Given the description of an element on the screen output the (x, y) to click on. 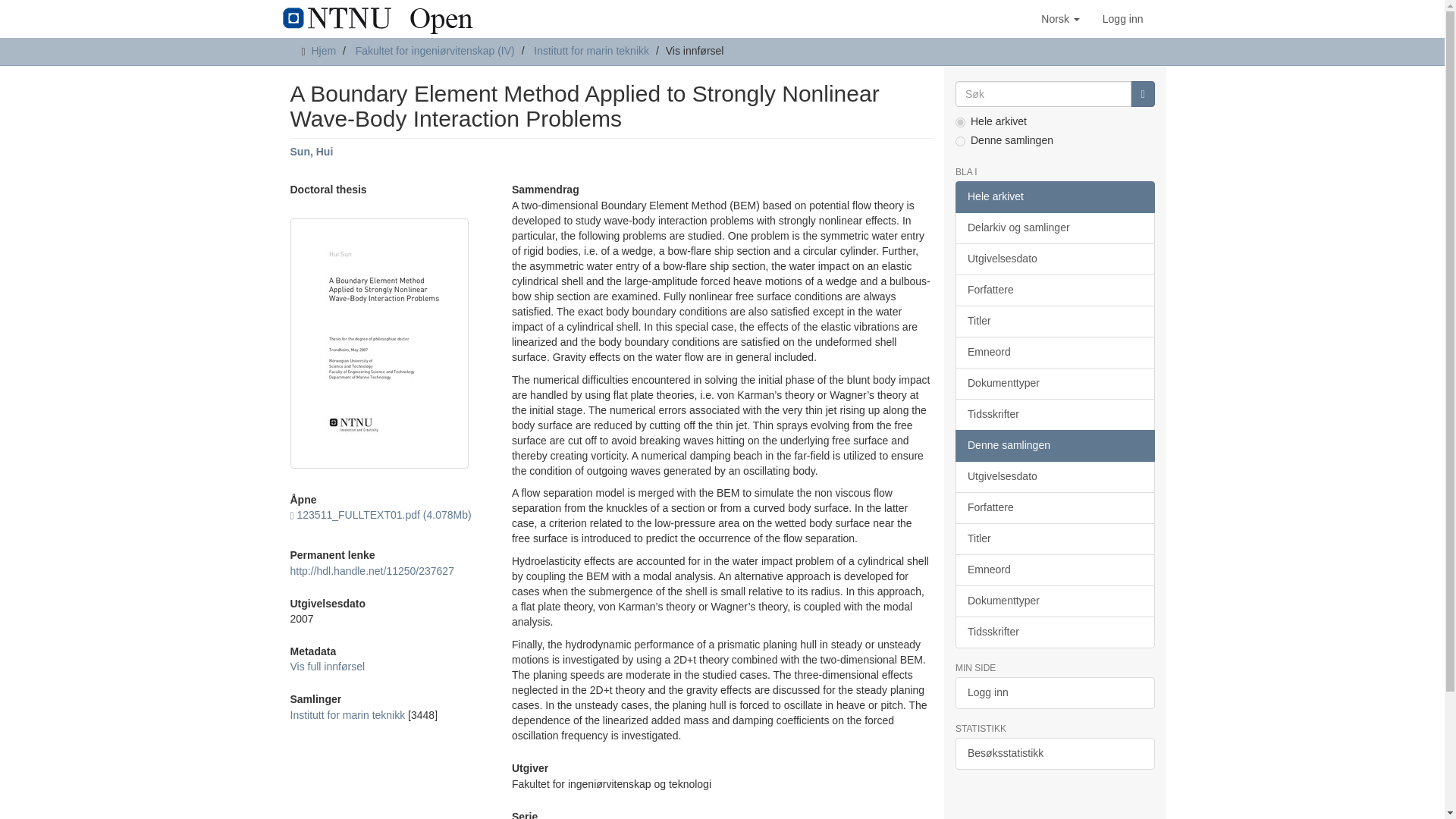
Titler (1054, 321)
Forfattere (1054, 290)
Hjem (323, 50)
Utgivelsesdato (1054, 259)
Institutt for marin teknikk (591, 50)
Delarkiv og samlinger (1054, 228)
Hele arkivet (1054, 196)
Institutt for marin teknikk (346, 715)
Emneord (1054, 352)
Logg inn (1122, 18)
